Given the description of an element on the screen output the (x, y) to click on. 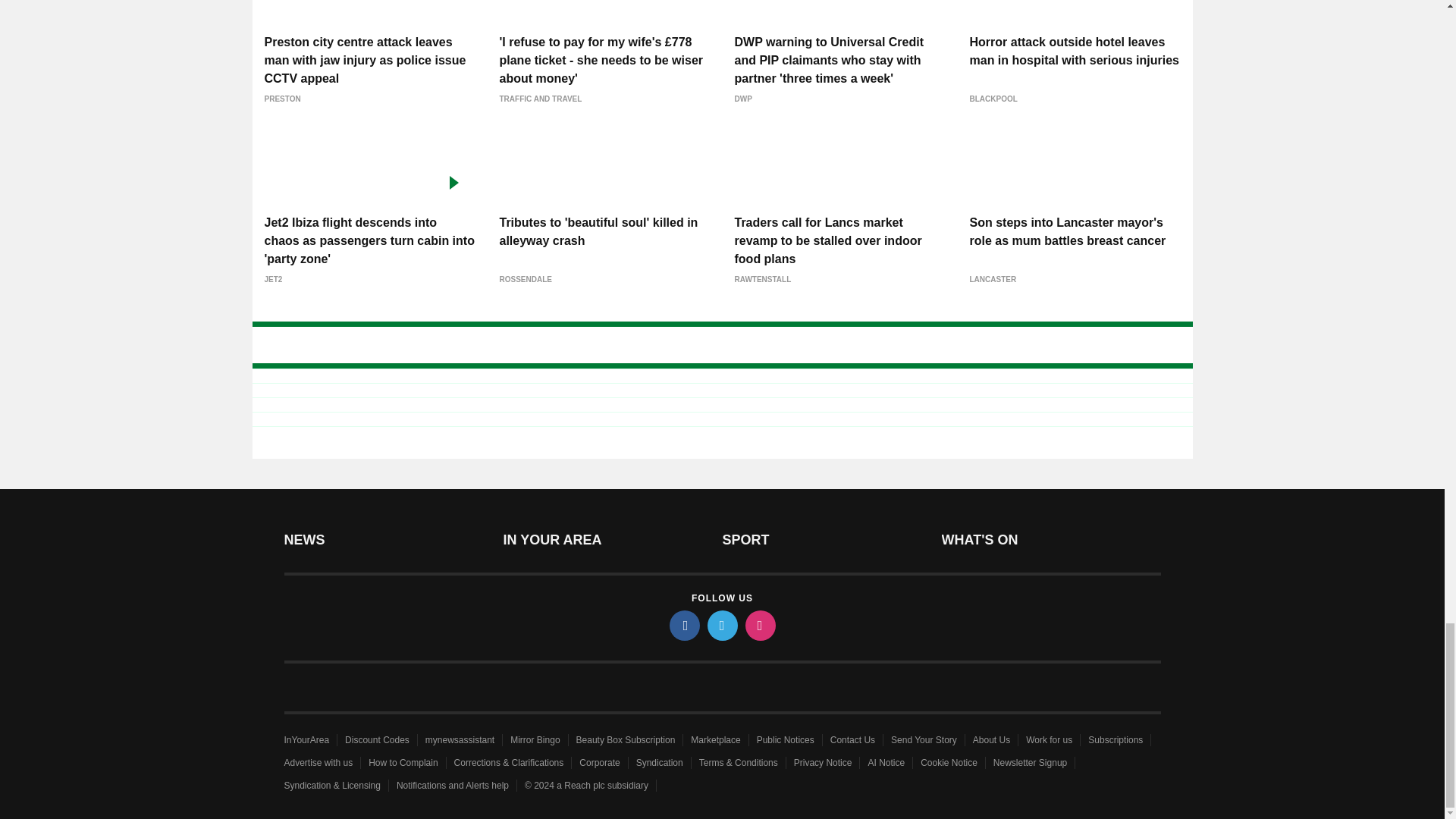
facebook (683, 625)
instagram (759, 625)
twitter (721, 625)
